Given the description of an element on the screen output the (x, y) to click on. 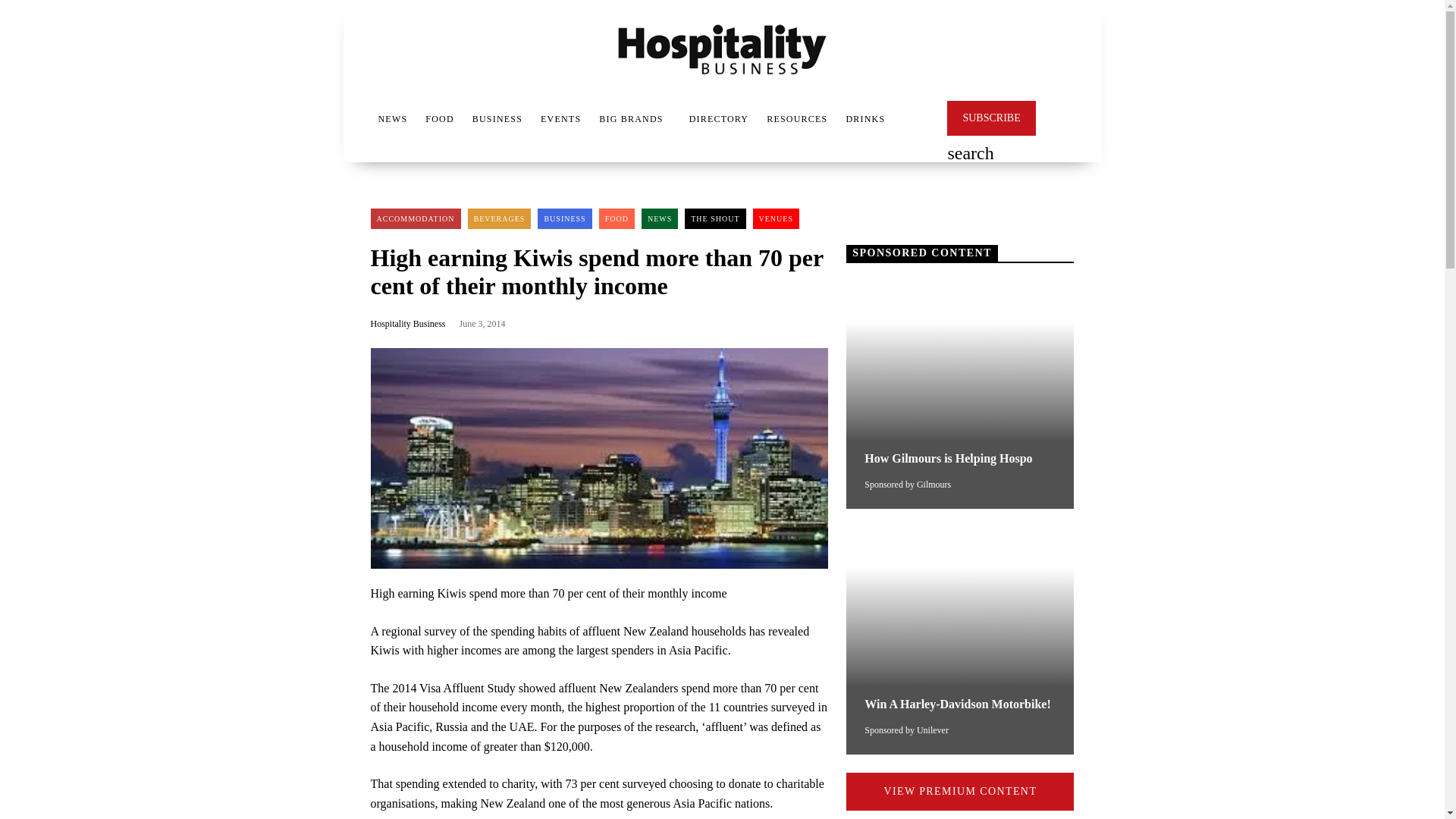
RESOURCES (797, 118)
BEVERAGES (499, 218)
BIG BRANDS (630, 118)
SUBSCRIBE (991, 117)
FOOD (616, 218)
BUSINESS (564, 218)
EVENTS (560, 118)
ACCOMMODATION (414, 218)
DIRECTORY (718, 118)
NEWS (660, 218)
